Given the description of an element on the screen output the (x, y) to click on. 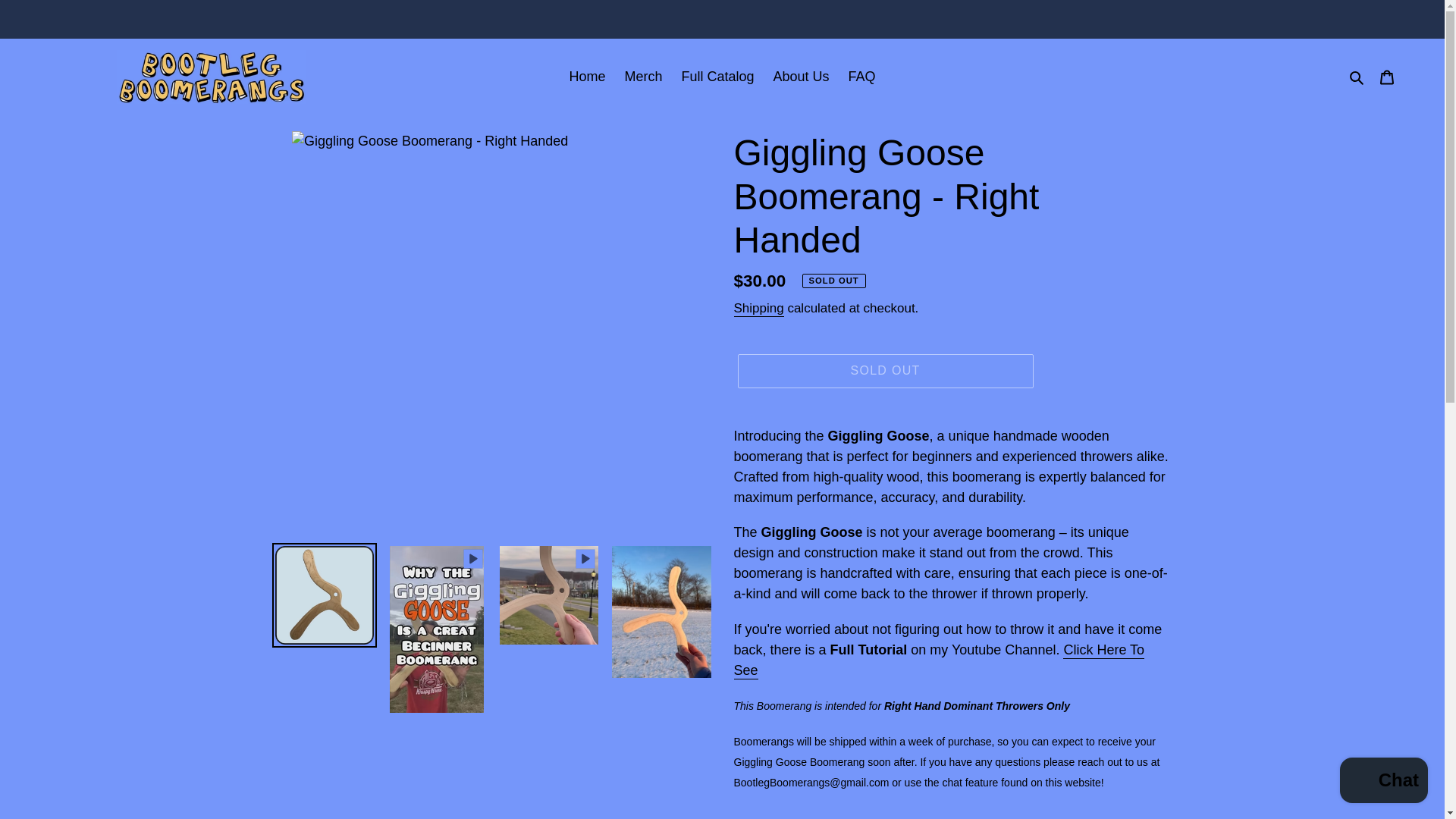
FAQ (862, 76)
Full Catalog (716, 76)
Click Here To See (938, 660)
Cart (1387, 76)
Click Here To See (938, 660)
Home (586, 76)
Shopify online store chat (1383, 781)
SOLD OUT (884, 370)
About Us (801, 76)
Shipping (758, 308)
